Given the description of an element on the screen output the (x, y) to click on. 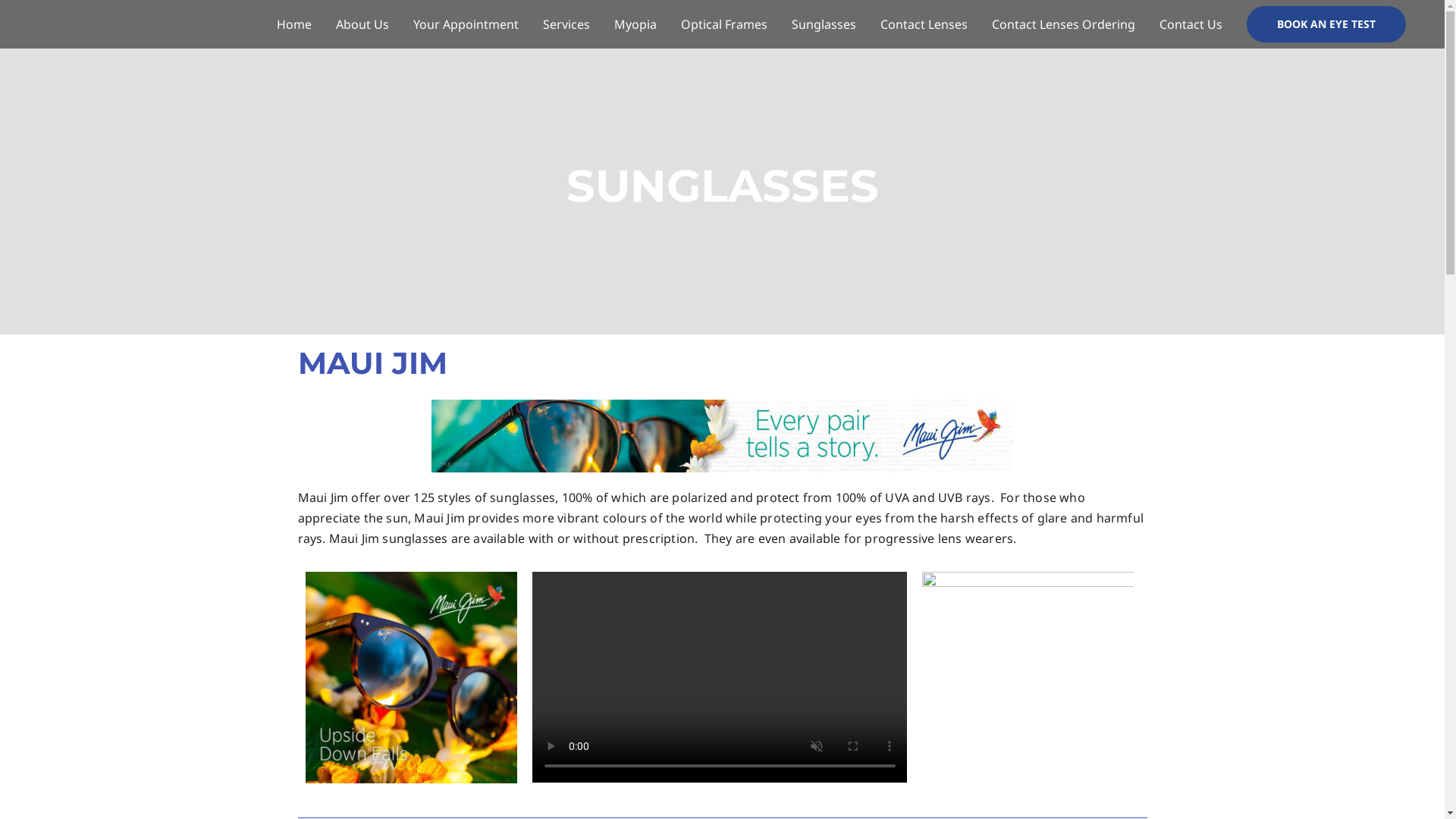
Myopia Element type: text (635, 24)
Your Appointment Element type: text (465, 24)
Home Element type: text (293, 24)
About Us Element type: text (362, 24)
Services Element type: text (566, 24)
Contact Lenses Ordering Element type: text (1063, 24)
Sunglasses Element type: text (823, 24)
Contact Us Element type: text (1190, 24)
Contact Lenses Element type: text (923, 24)
BOOK AN EYE TEST Element type: text (1325, 24)
Optical Frames Element type: text (723, 24)
